Given the description of an element on the screen output the (x, y) to click on. 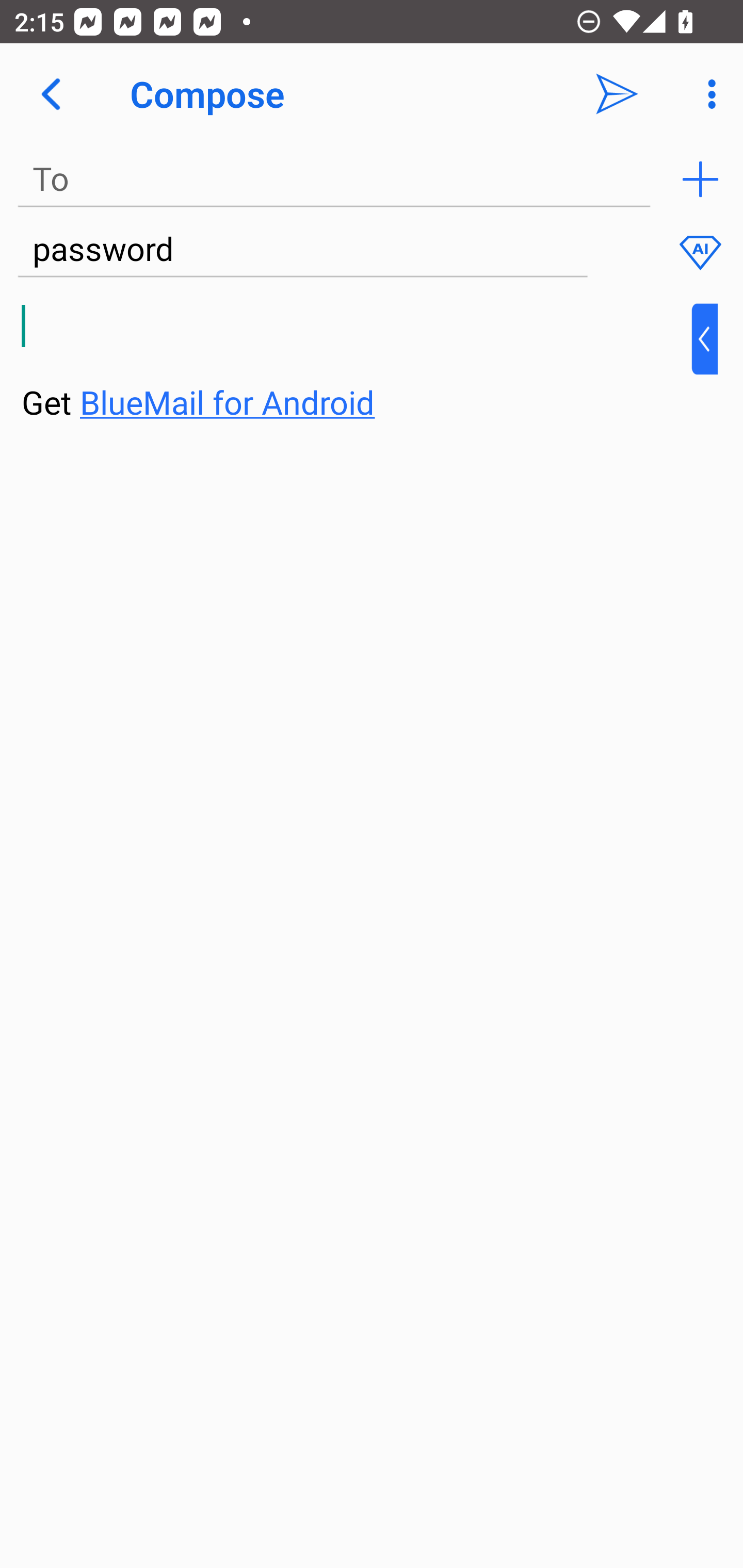
Navigate up (50, 93)
Send (616, 93)
More Options (706, 93)
To (334, 179)
Add recipient (To) (699, 179)
password (302, 249)


⁣Get BlueMail for Android ​ (355, 363)
